Given the description of an element on the screen output the (x, y) to click on. 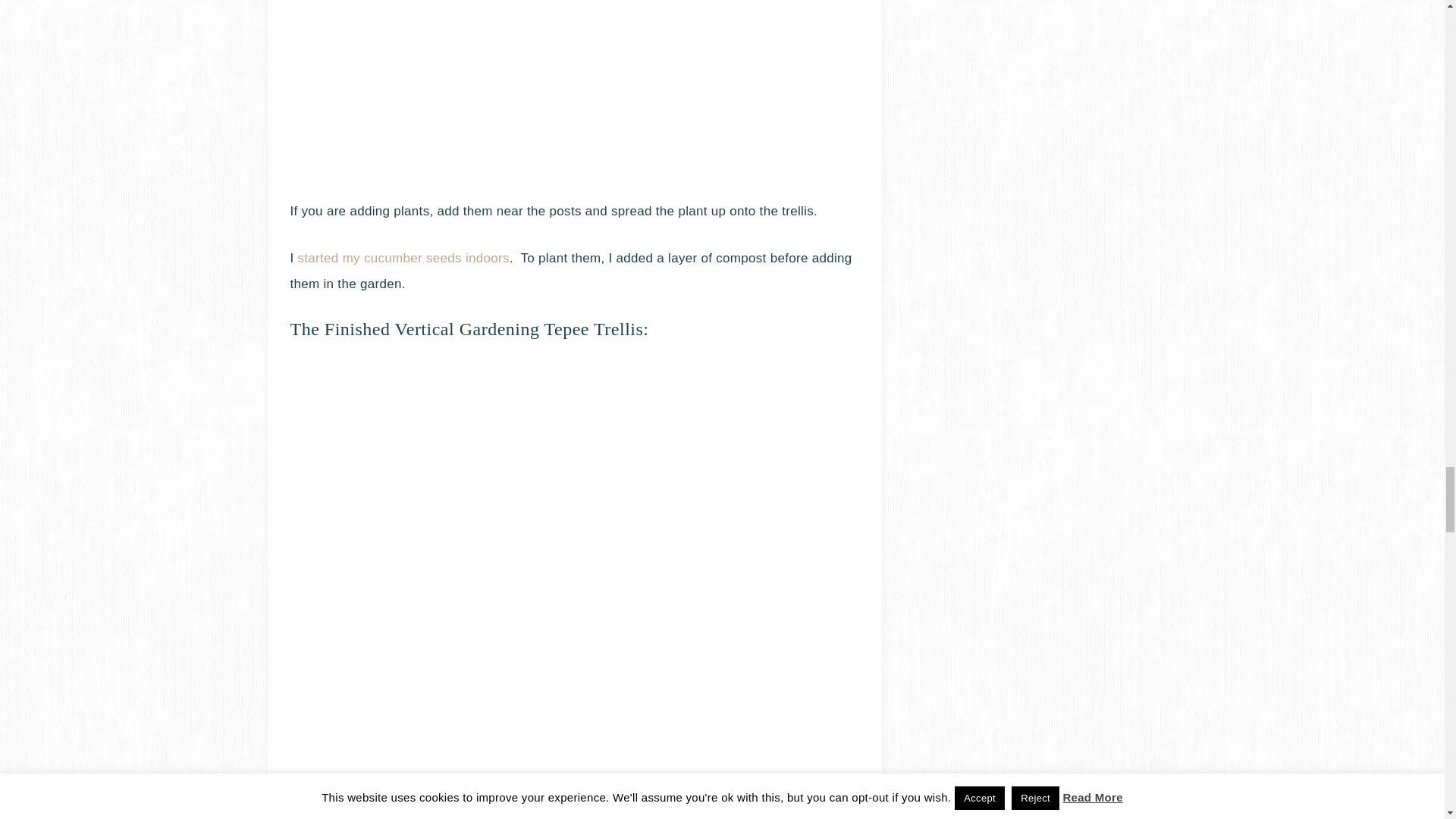
started my cucumber seeds indoors (403, 257)
